Given the description of an element on the screen output the (x, y) to click on. 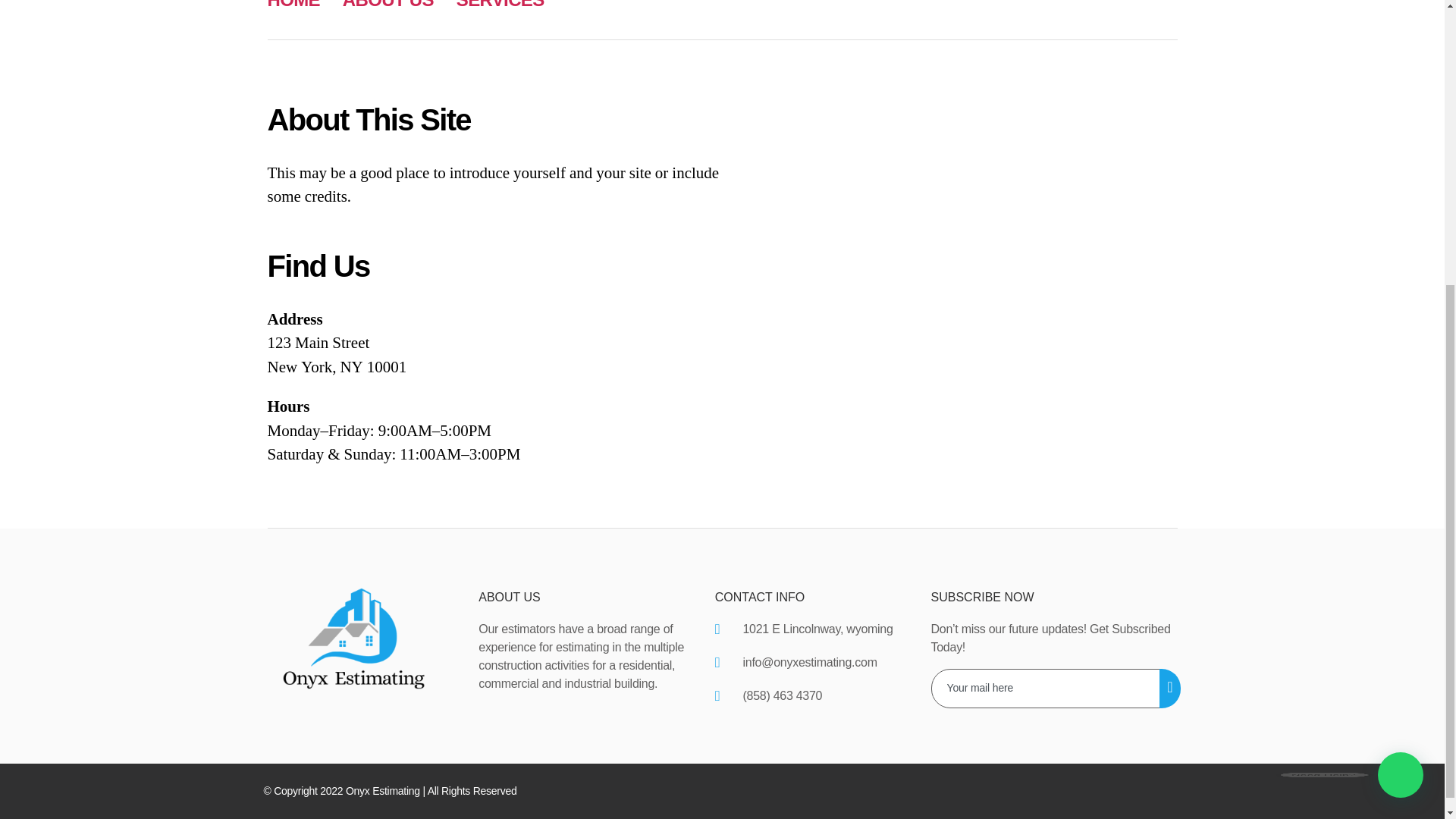
HOME (292, 4)
1021 E Lincolnway, wyoming (811, 628)
SERVICES (500, 4)
ABOUT US (387, 4)
